Given the description of an element on the screen output the (x, y) to click on. 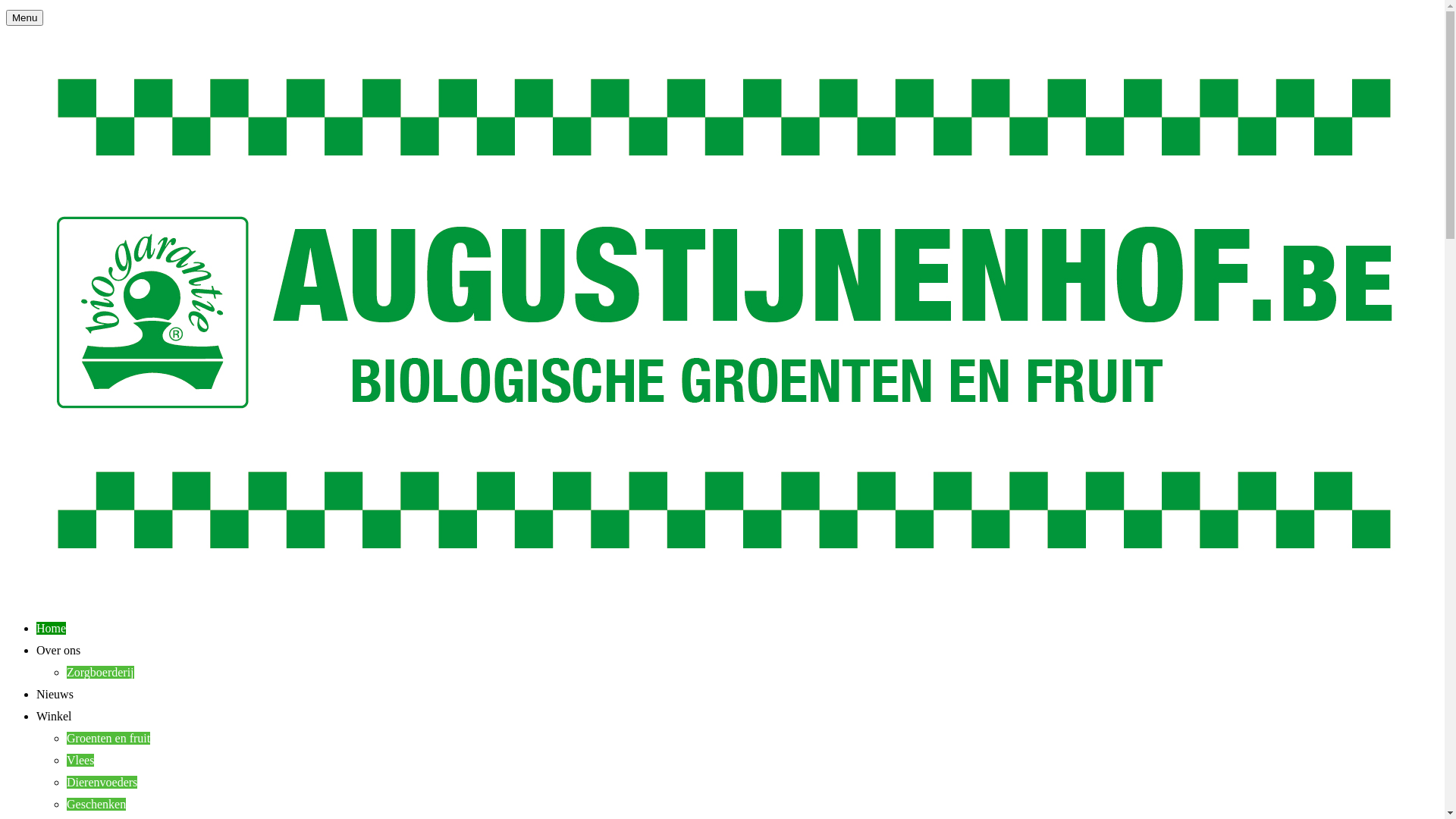
Vlees Element type: text (80, 759)
Zorgboerderij Element type: text (100, 671)
Menu Element type: text (24, 17)
Over ons Element type: text (58, 649)
Geschenken Element type: text (95, 803)
Groenten en fruit Element type: text (108, 737)
Dierenvoeders Element type: text (101, 781)
Winkel Element type: text (53, 715)
Home Element type: text (50, 627)
Nieuws Element type: text (54, 693)
